Given the description of an element on the screen output the (x, y) to click on. 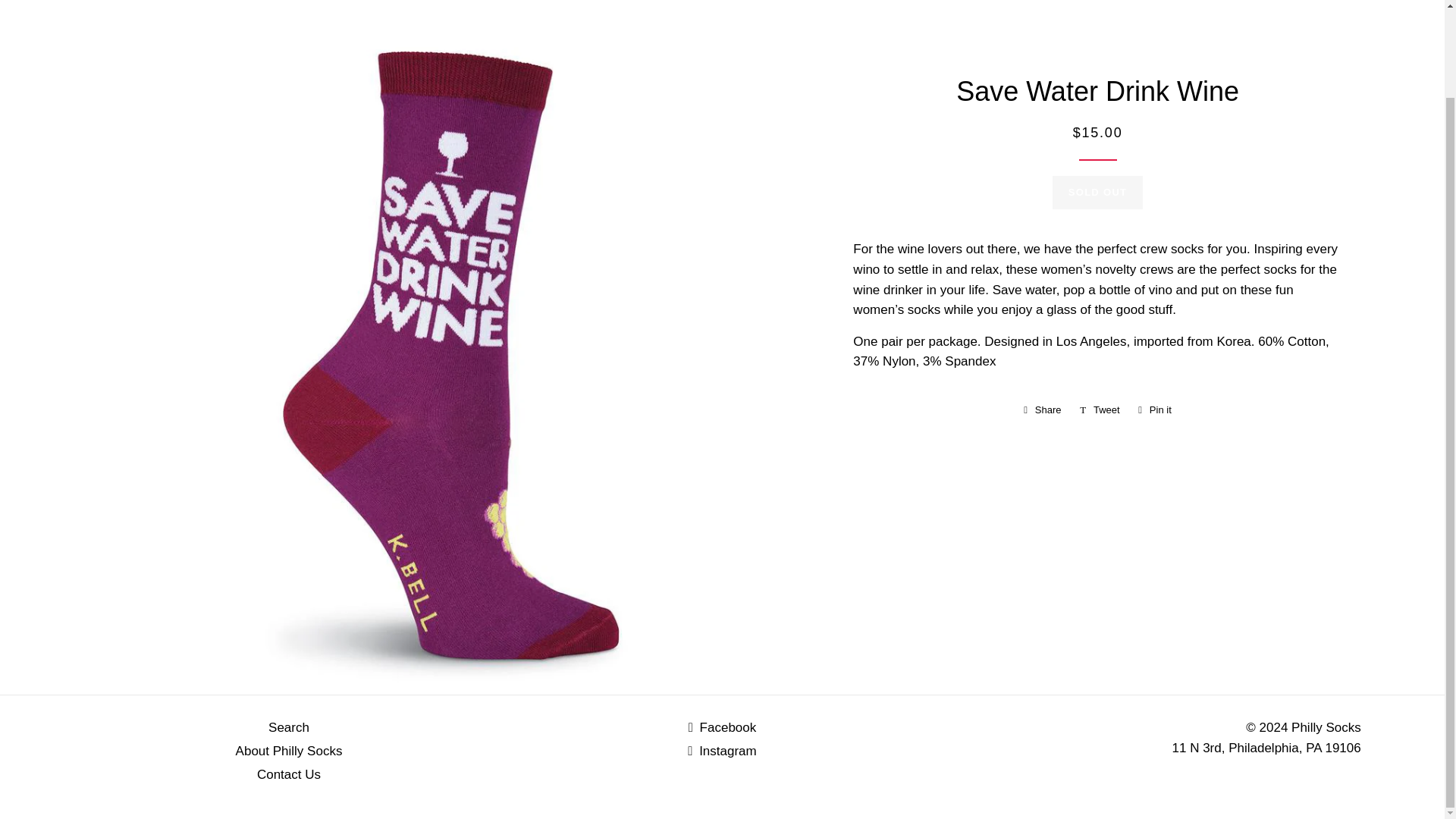
Search (1098, 409)
SOLD OUT (287, 727)
Contact Us (1097, 192)
Philly Socks (288, 774)
Share on Facebook (1326, 727)
Philly Socks on Facebook (1042, 409)
About Philly Socks (1042, 409)
Instagram (722, 727)
Philly Socks on Instagram (288, 750)
Facebook (722, 750)
Pin on Pinterest (722, 750)
Tweet on Twitter (722, 727)
